Given the description of an element on the screen output the (x, y) to click on. 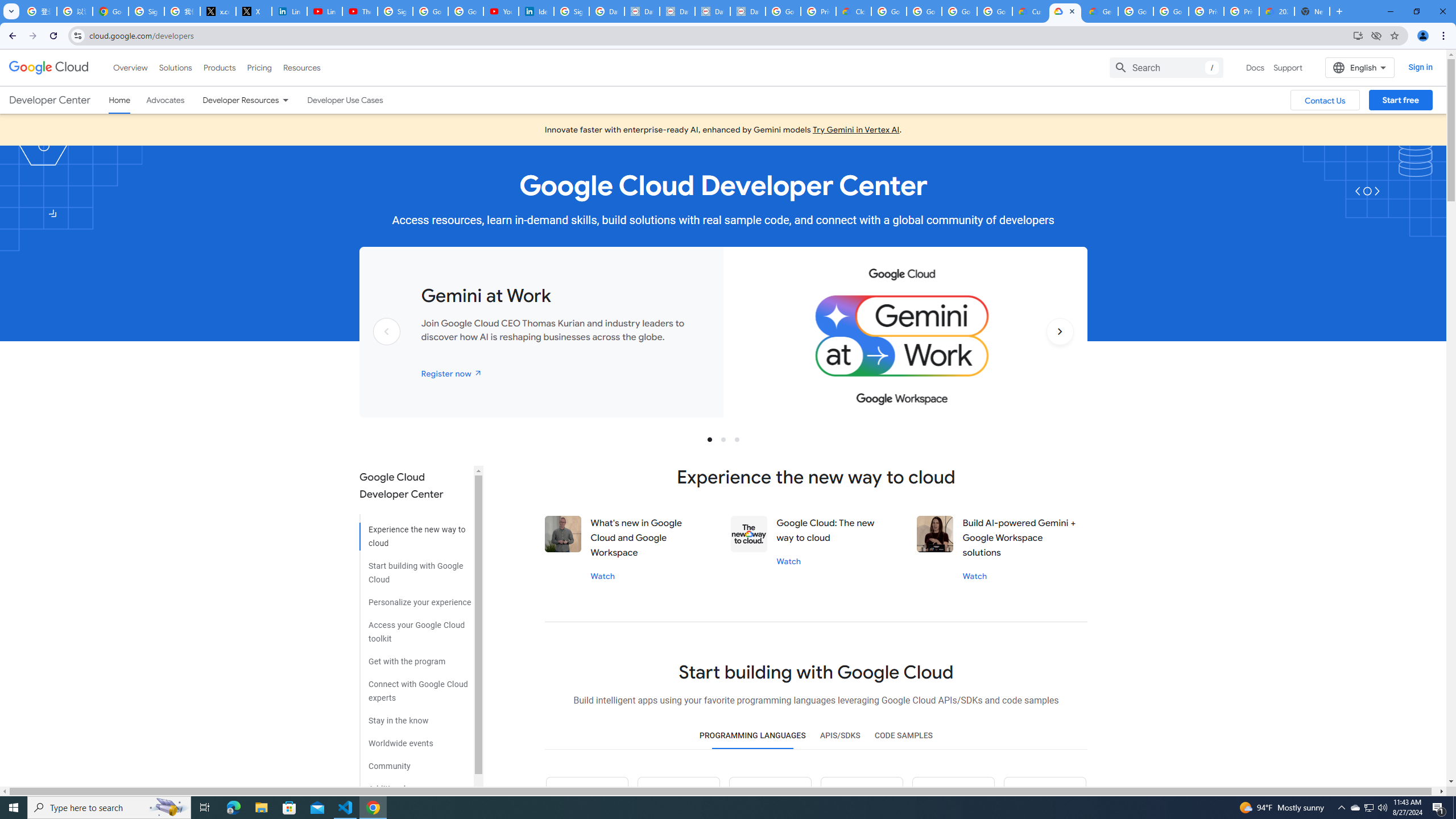
CODE SAMPLES (903, 735)
